Given the description of an element on the screen output the (x, y) to click on. 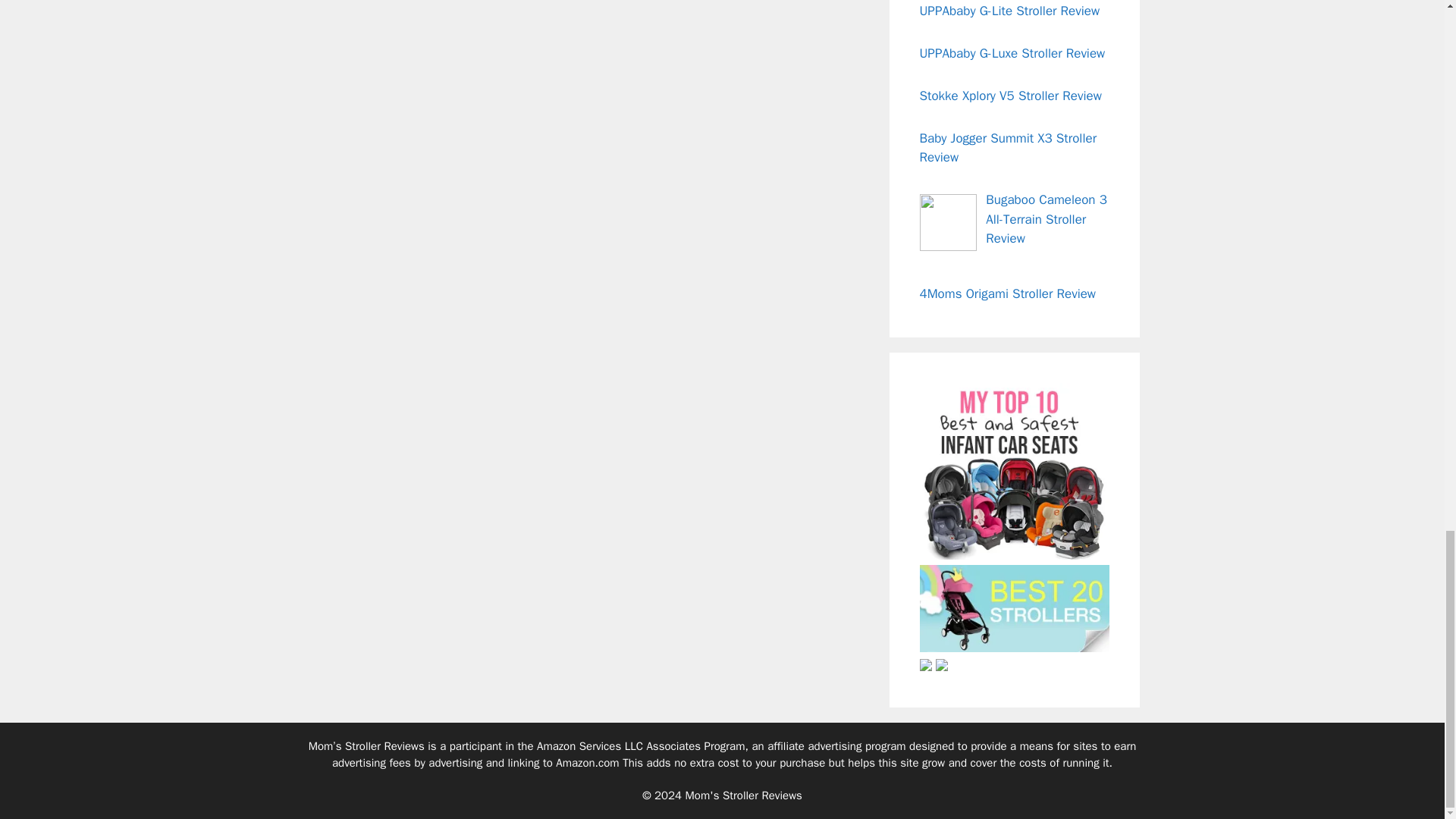
UPPAbaby G-Luxe Stroller Review (1011, 53)
Stokke Xplory V5 Stroller Review (1009, 95)
Baby Jogger Summit X3 Stroller Review (1007, 148)
UPPAbaby G-Lite Stroller Review (1008, 10)
4Moms Origami Stroller Review (1007, 293)
Bugaboo Cameleon 3 All-Terrain Stroller Review (1045, 218)
